Given the description of an element on the screen output the (x, y) to click on. 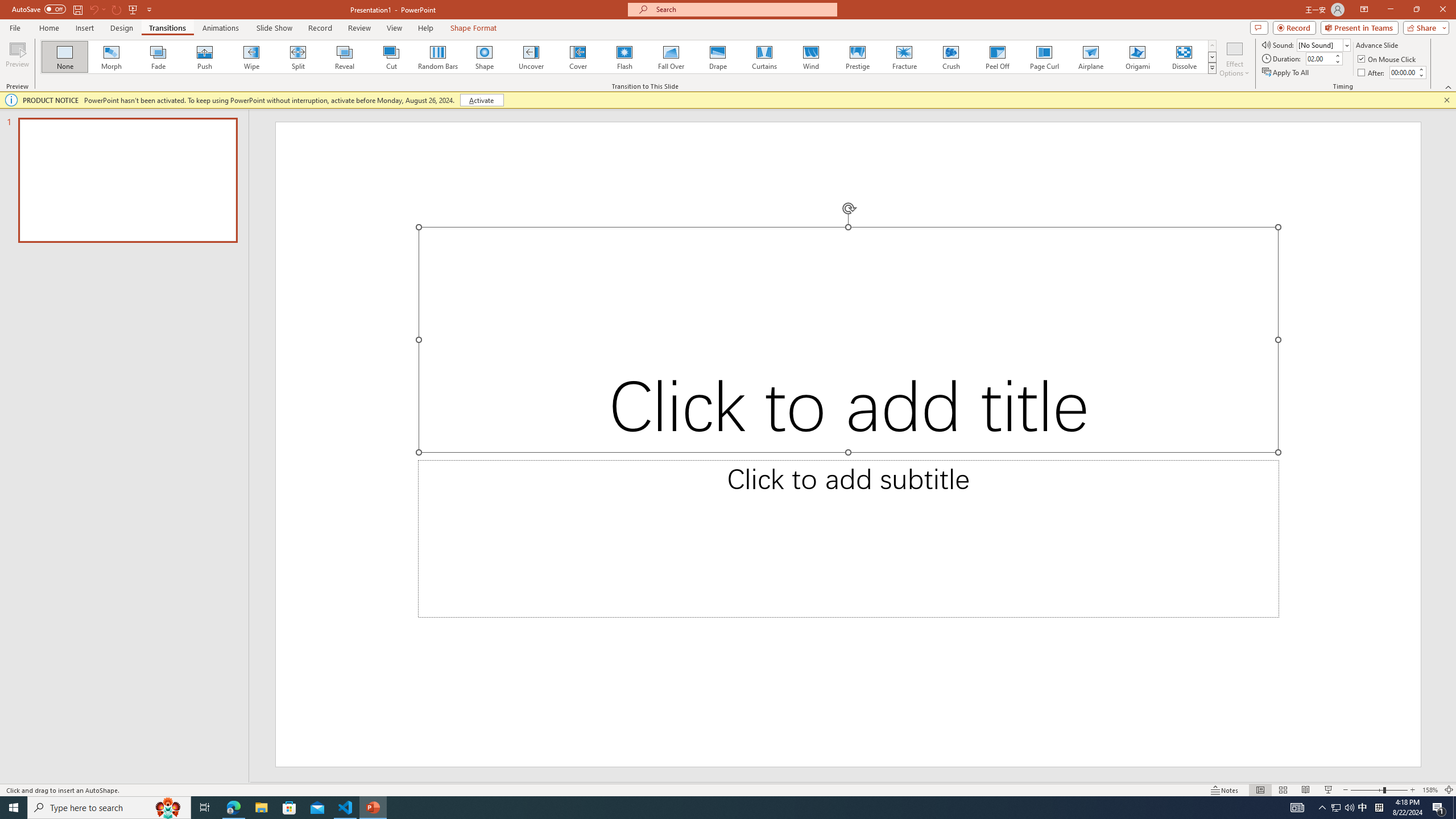
Split (298, 56)
On Mouse Click (1387, 58)
Push (205, 56)
Less (1420, 75)
